Given the description of an element on the screen output the (x, y) to click on. 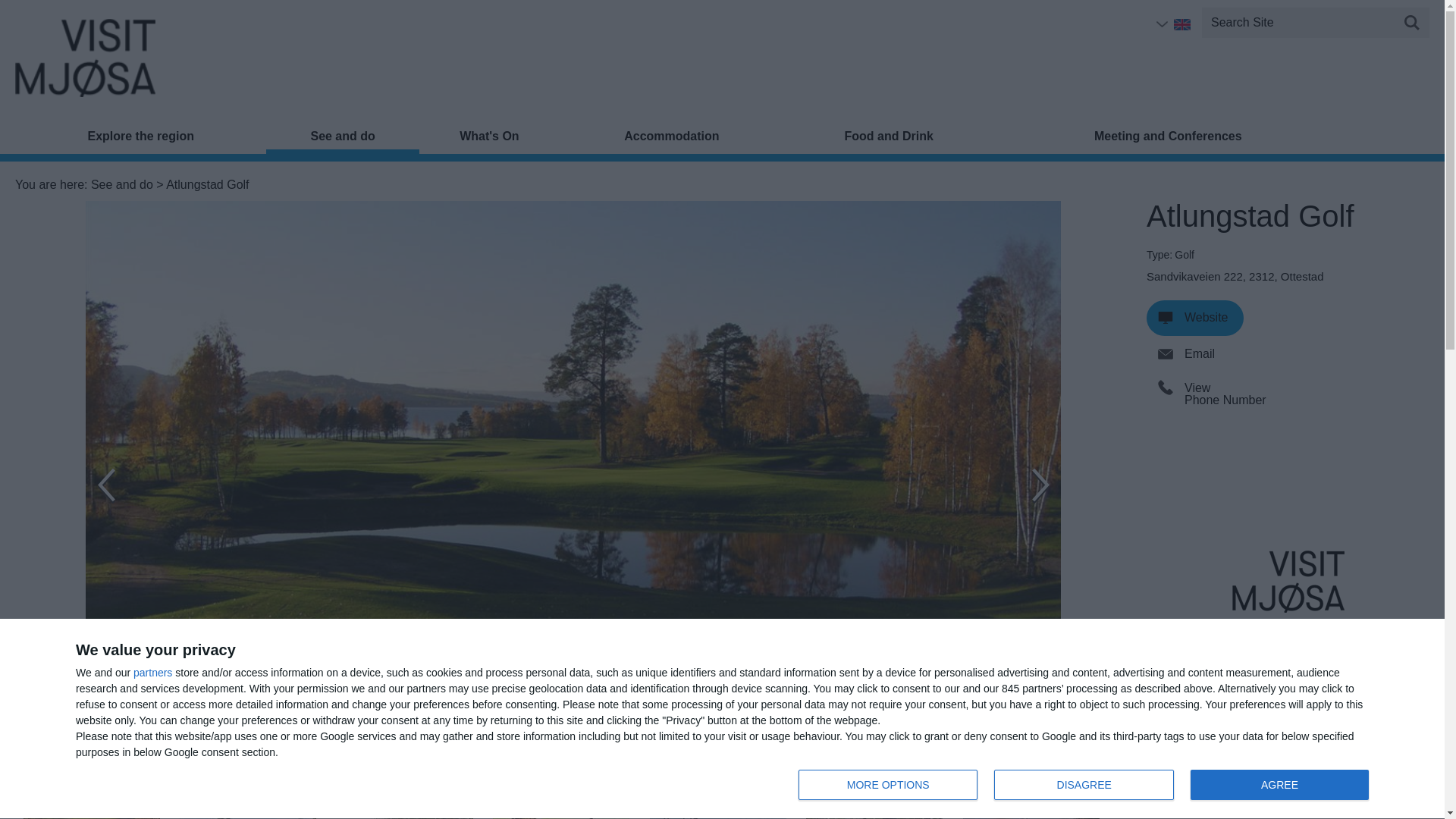
MORE OPTIONS (1086, 785)
Explore the region (886, 784)
AGREE (140, 140)
partners (1279, 784)
An image of Atlungstad Golf (152, 672)
Accommodation Link being described (1083, 784)
Food and Drink (671, 140)
See and do (889, 140)
